Given the description of an element on the screen output the (x, y) to click on. 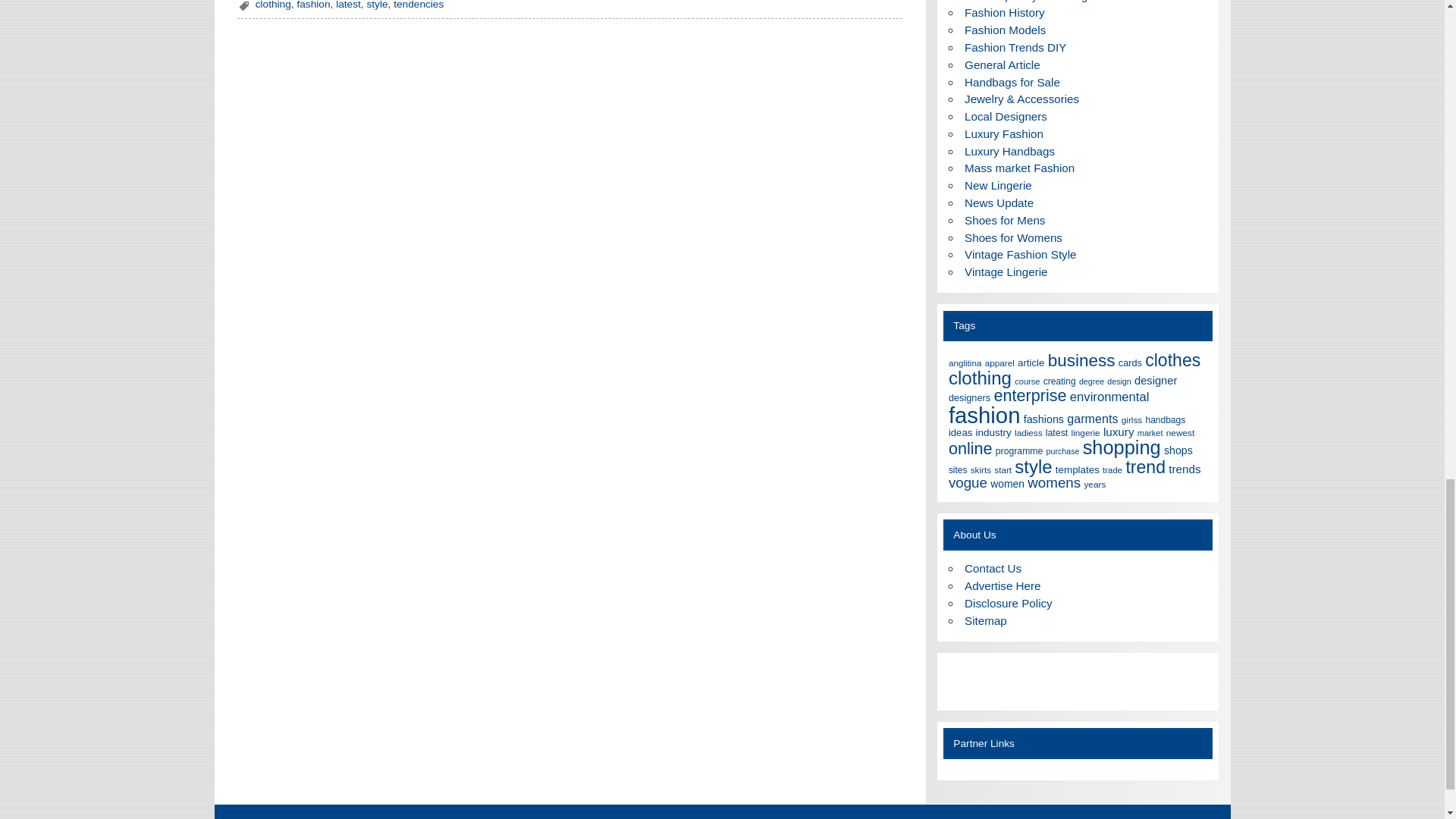
tendencies (418, 4)
latest (348, 4)
clothing (273, 4)
style (376, 4)
fashion (313, 4)
